Given the description of an element on the screen output the (x, y) to click on. 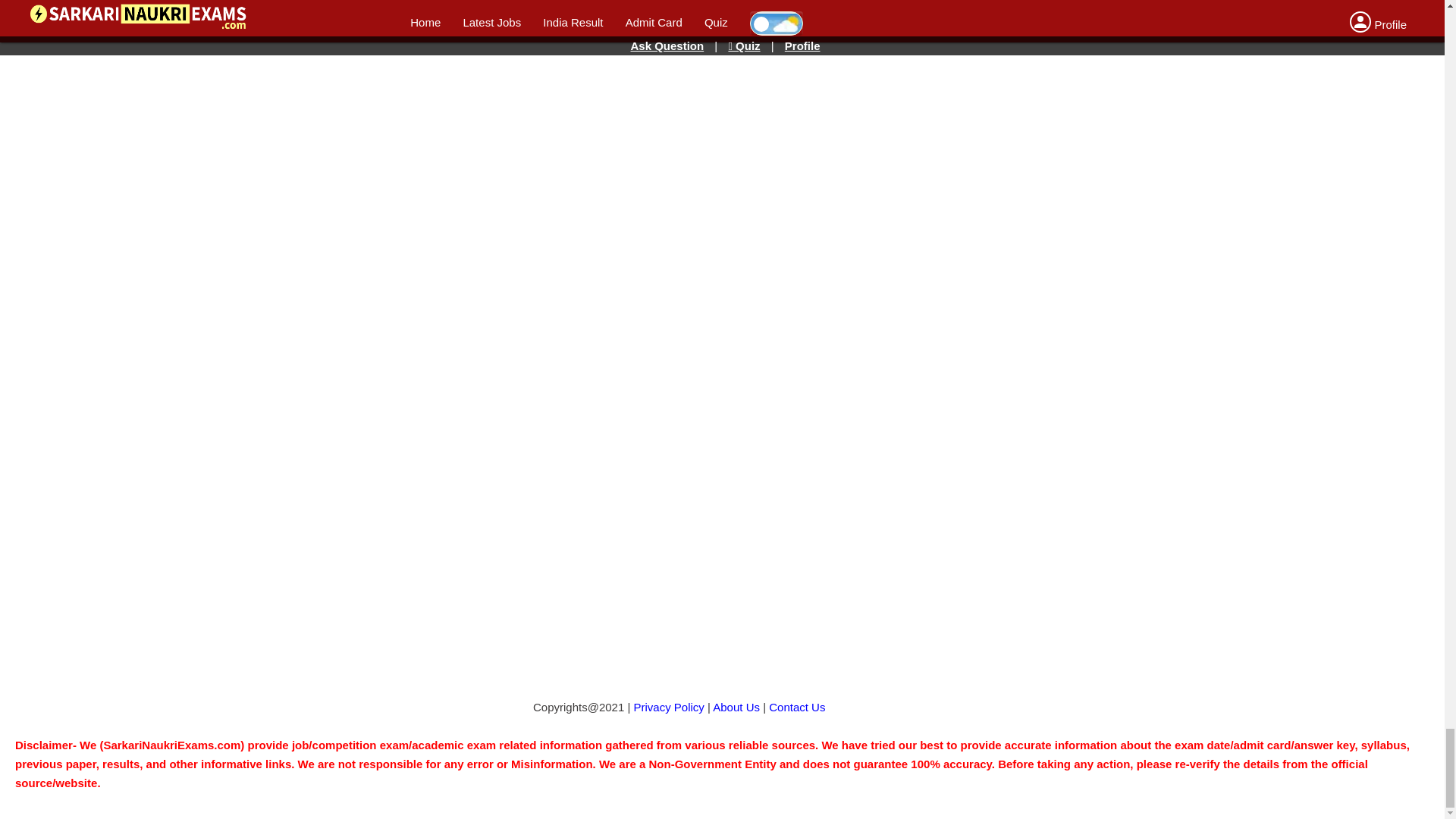
Contact Us (796, 707)
Privacy Policy (668, 707)
About Us (736, 707)
